Given the description of an element on the screen output the (x, y) to click on. 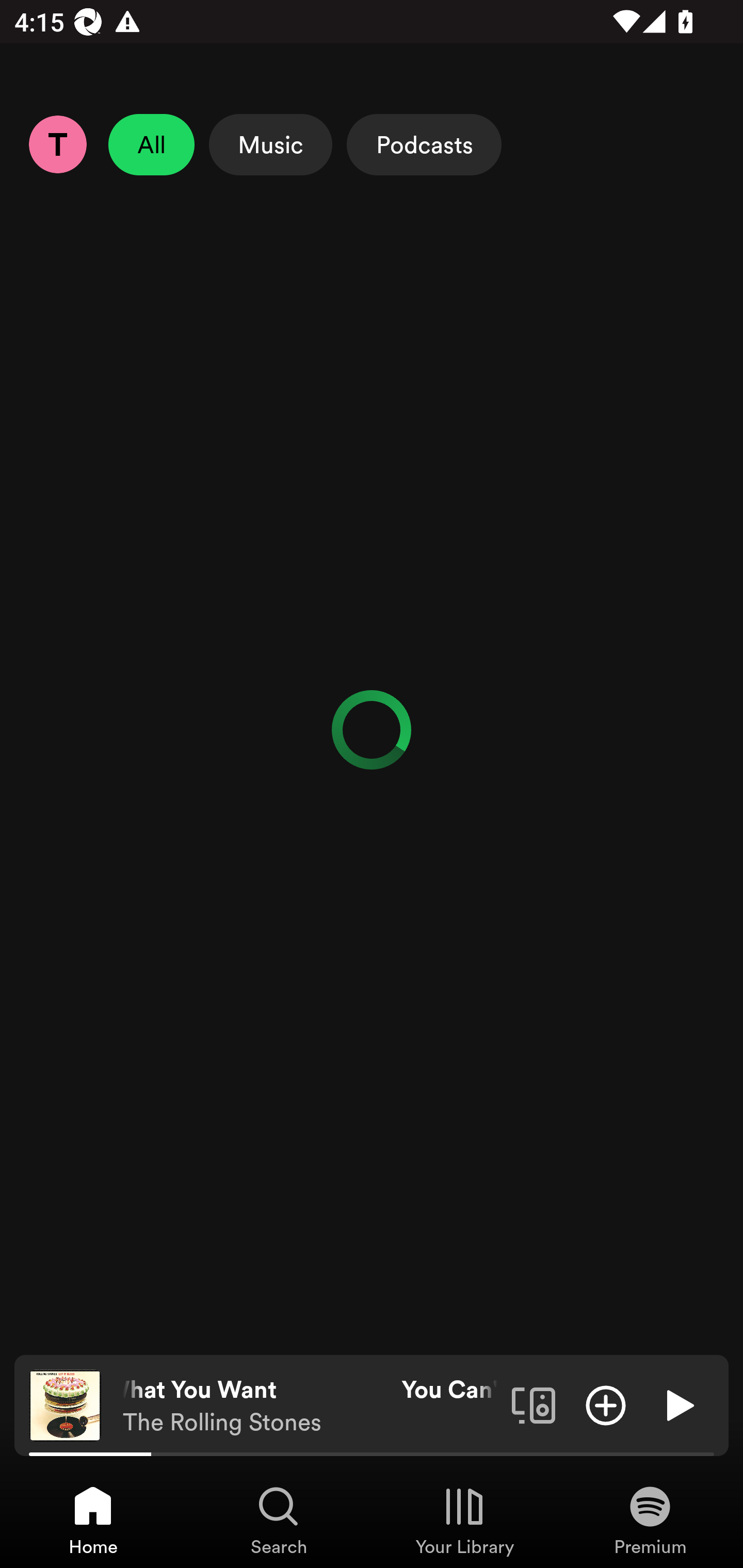
Profile (57, 144)
All Unselect All (151, 144)
Music Select Music (270, 144)
Podcasts Select Podcasts (423, 144)
The cover art of the currently playing track (64, 1404)
Connect to a device. Opens the devices menu (533, 1404)
Add item (605, 1404)
Play (677, 1404)
Home, Tab 1 of 4 Home Home (92, 1519)
Search, Tab 2 of 4 Search Search (278, 1519)
Your Library, Tab 3 of 4 Your Library Your Library (464, 1519)
Premium, Tab 4 of 4 Premium Premium (650, 1519)
